Given the description of an element on the screen output the (x, y) to click on. 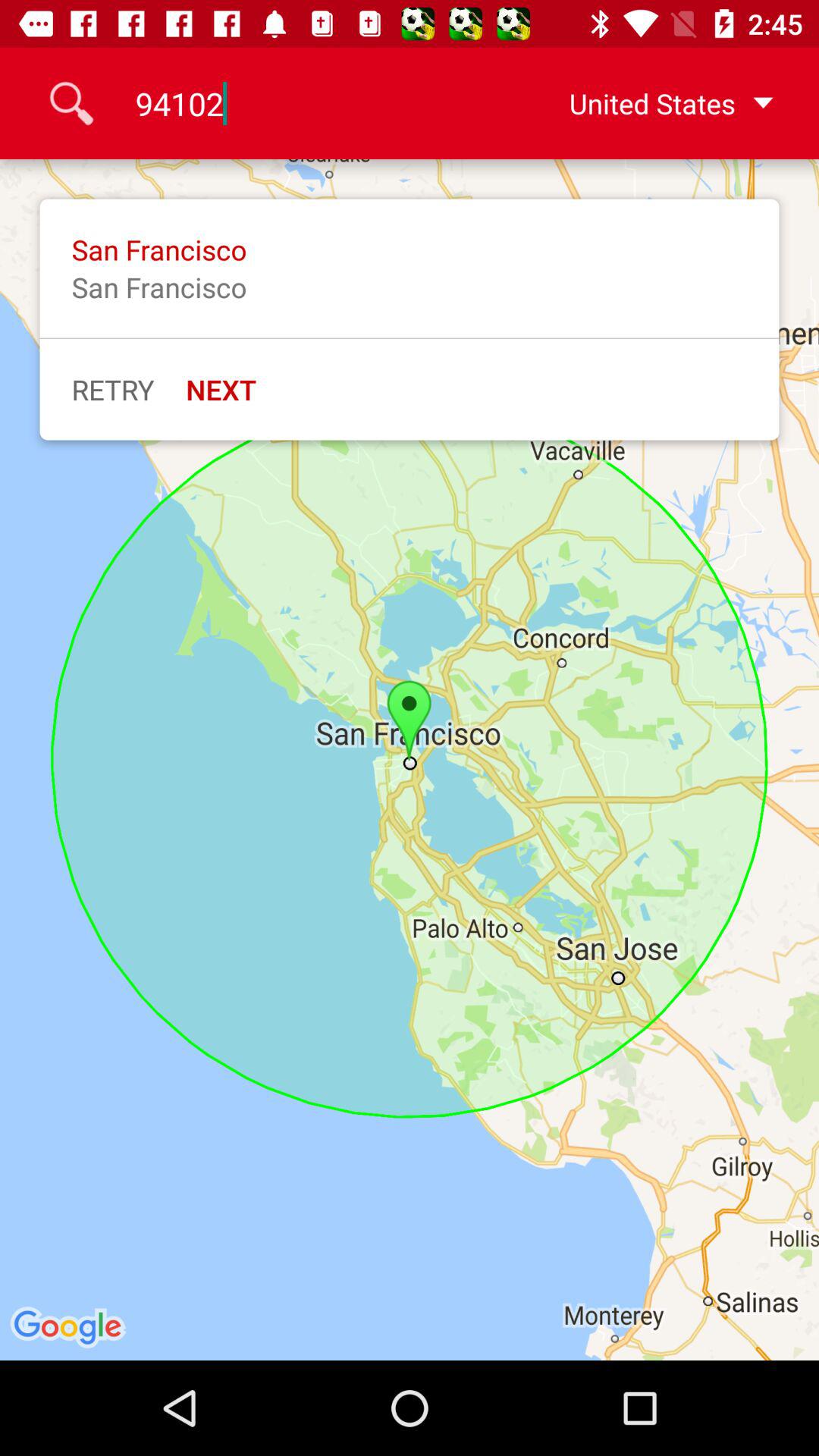
turn on the icon to the right of the retry icon (220, 389)
